Given the description of an element on the screen output the (x, y) to click on. 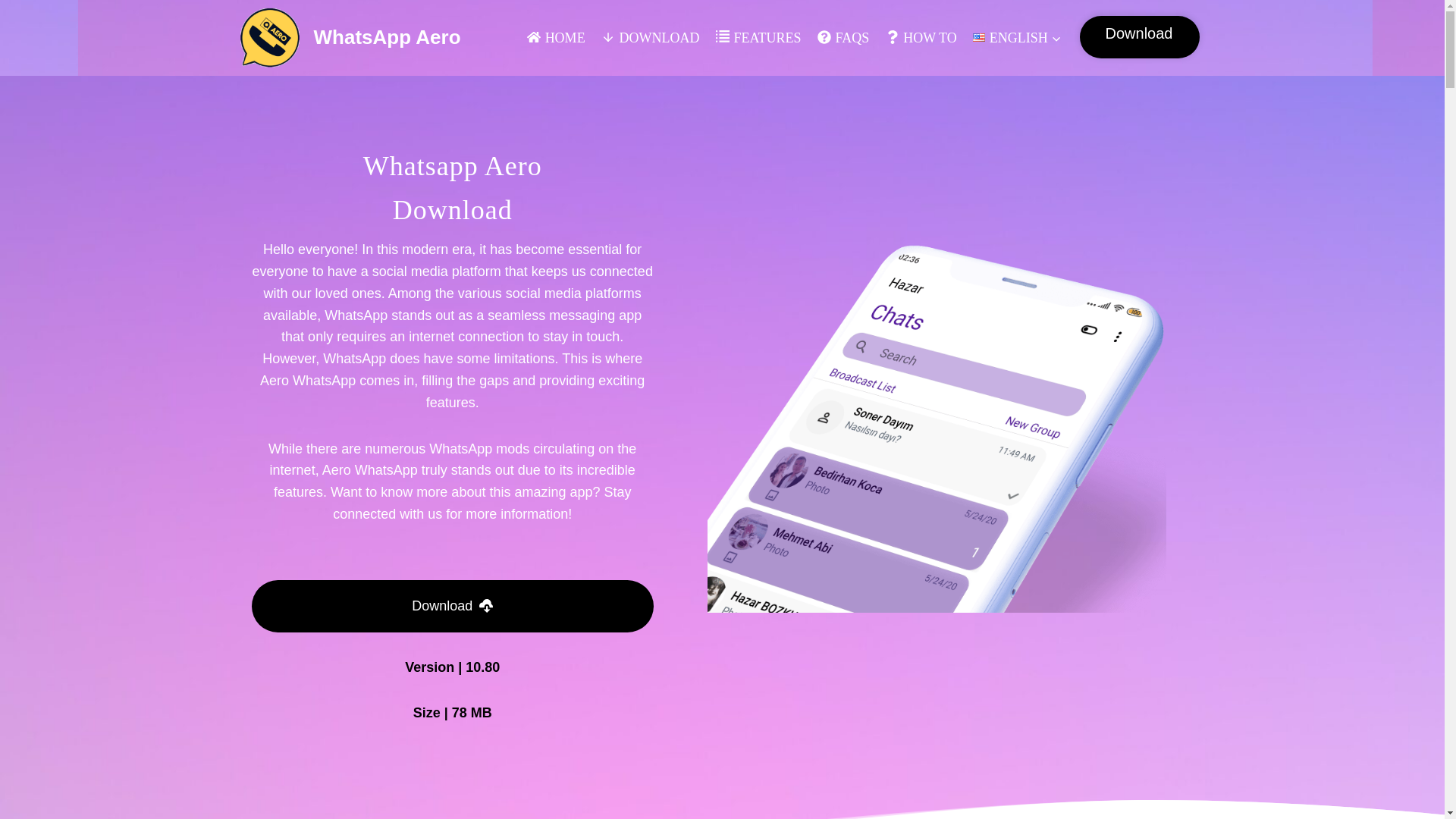
HOW TO (921, 37)
Download (452, 605)
ENGLISH (1017, 37)
DOWNLOAD (649, 37)
Download (1139, 36)
HOME (555, 37)
FEATURES (758, 37)
WhatsApp Aero (350, 37)
FAQS (843, 37)
